Given the description of an element on the screen output the (x, y) to click on. 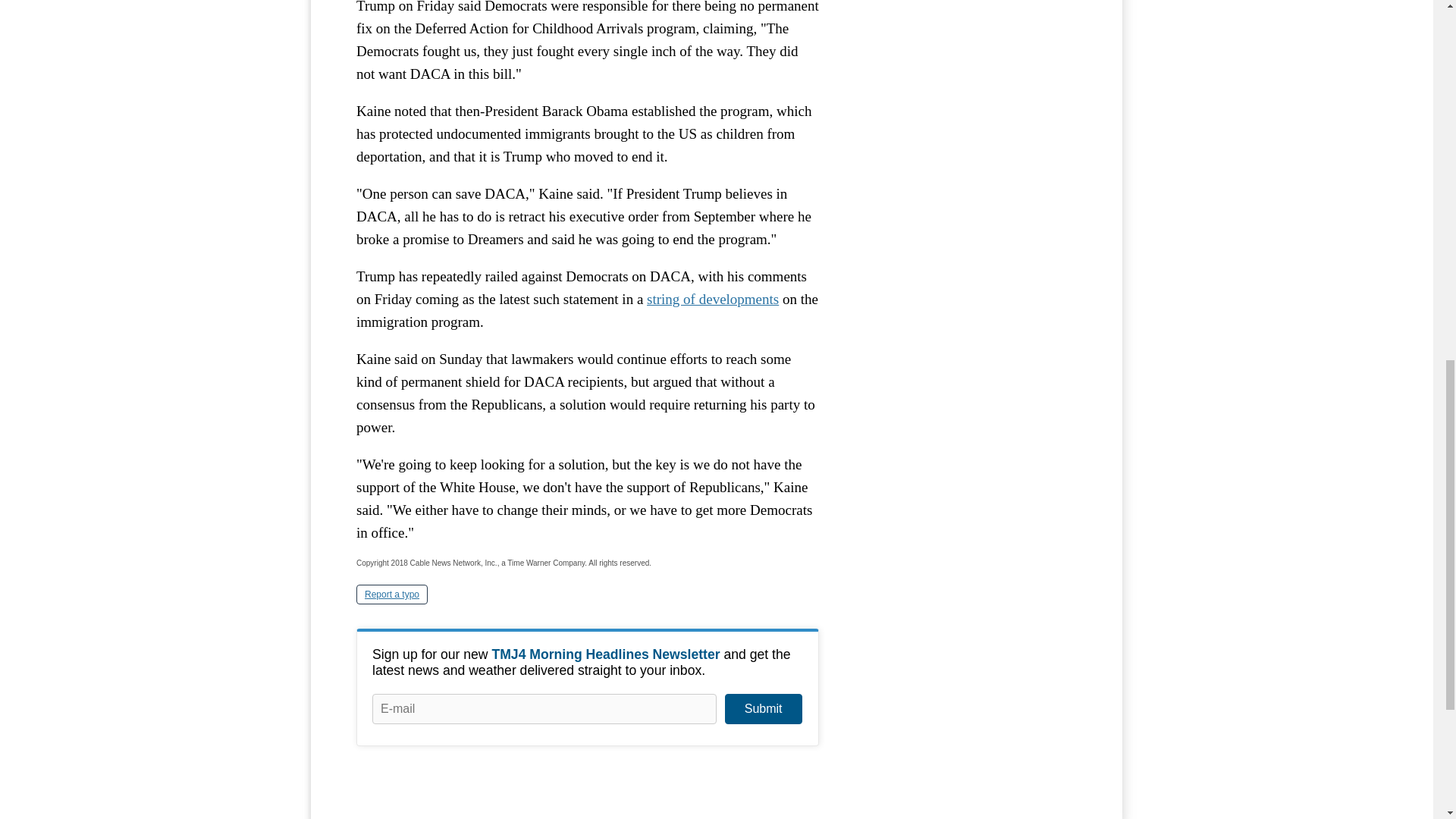
Submit (763, 708)
